Given the description of an element on the screen output the (x, y) to click on. 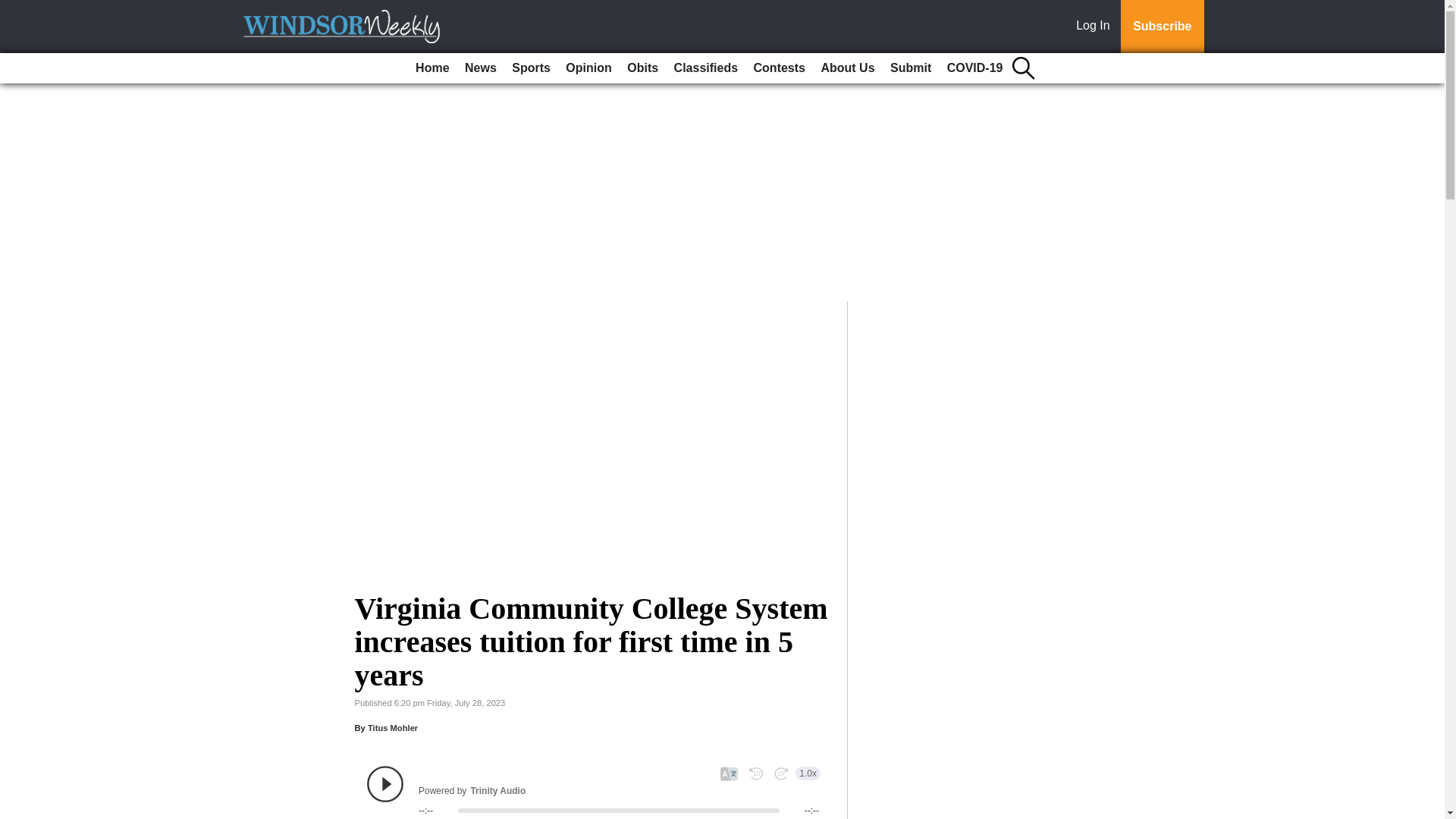
Home (431, 68)
Go (13, 9)
News (480, 68)
Obits (642, 68)
Opinion (588, 68)
Titus Mohler (392, 727)
Subscribe (1162, 26)
Contests (779, 68)
About Us (846, 68)
Submit (910, 68)
